Given the description of an element on the screen output the (x, y) to click on. 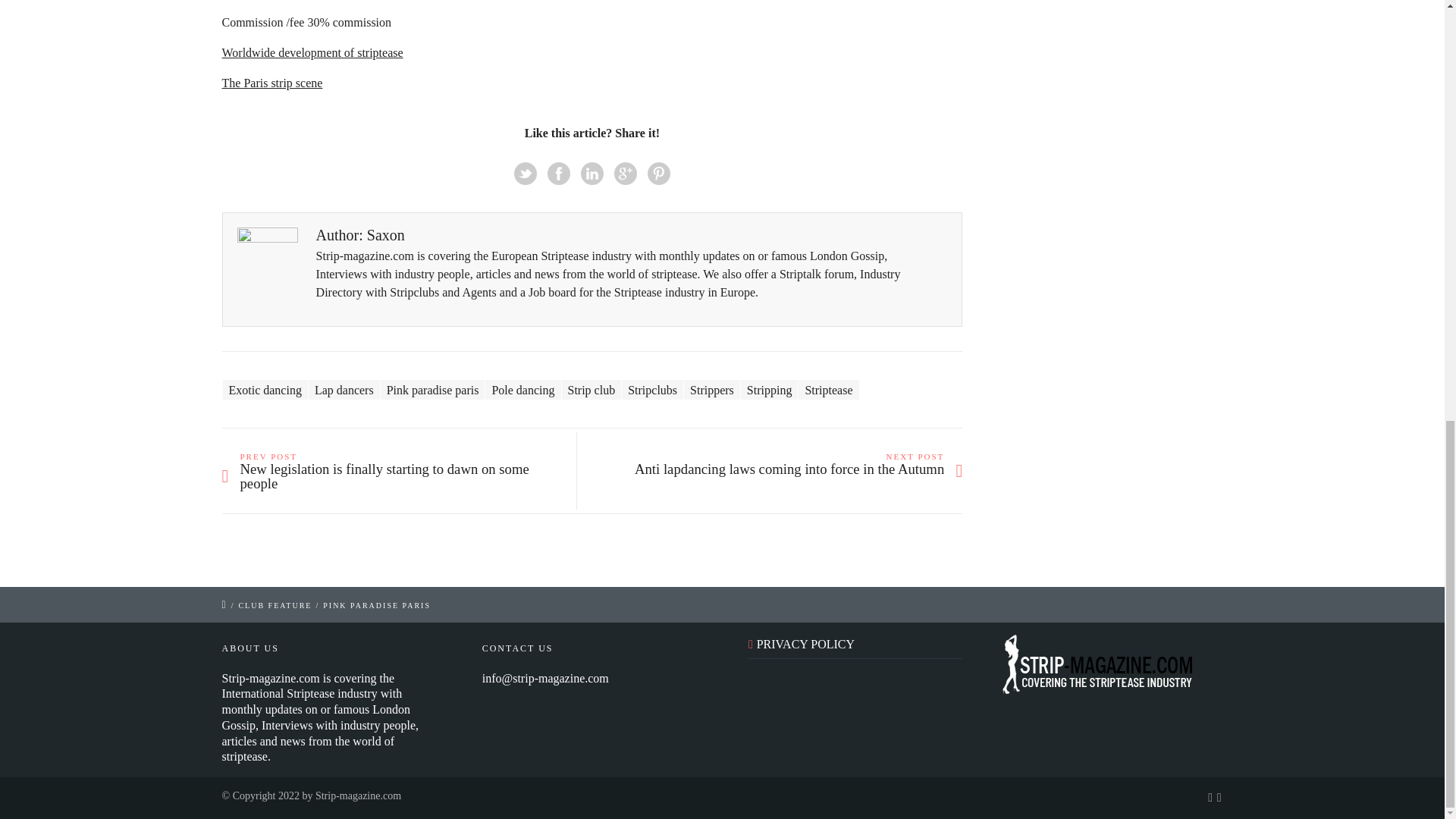
Pole dancing (522, 390)
The Paris strip scene (271, 82)
Stripping (769, 390)
Exotic dancing (264, 390)
Strip club (590, 390)
Linkedin (592, 172)
Strippers (711, 390)
Lap dancers (344, 390)
Twitter (525, 172)
Worldwide development of striptease (312, 51)
